Given the description of an element on the screen output the (x, y) to click on. 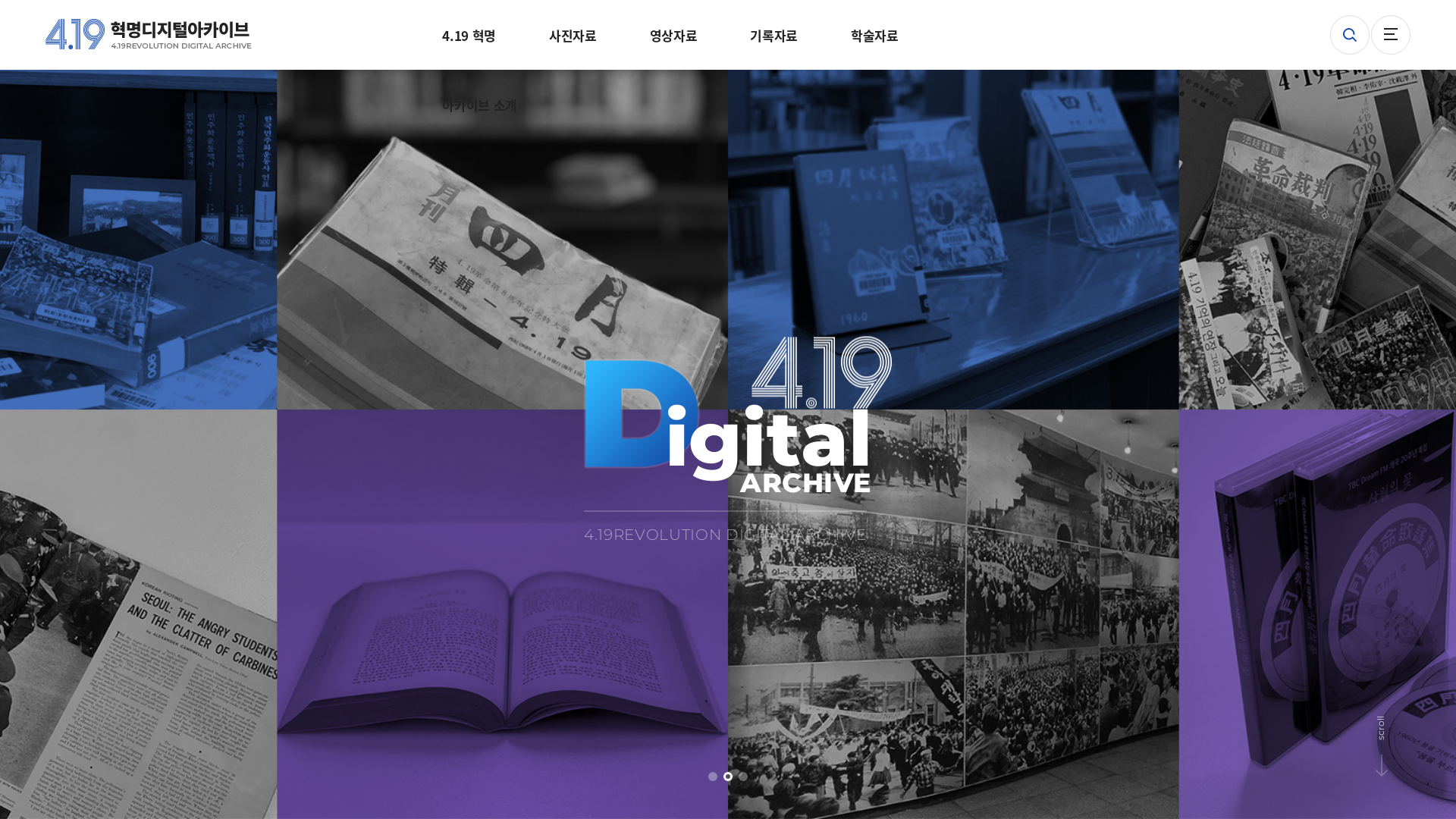
scroll Element type: text (1399, 723)
